Given the description of an element on the screen output the (x, y) to click on. 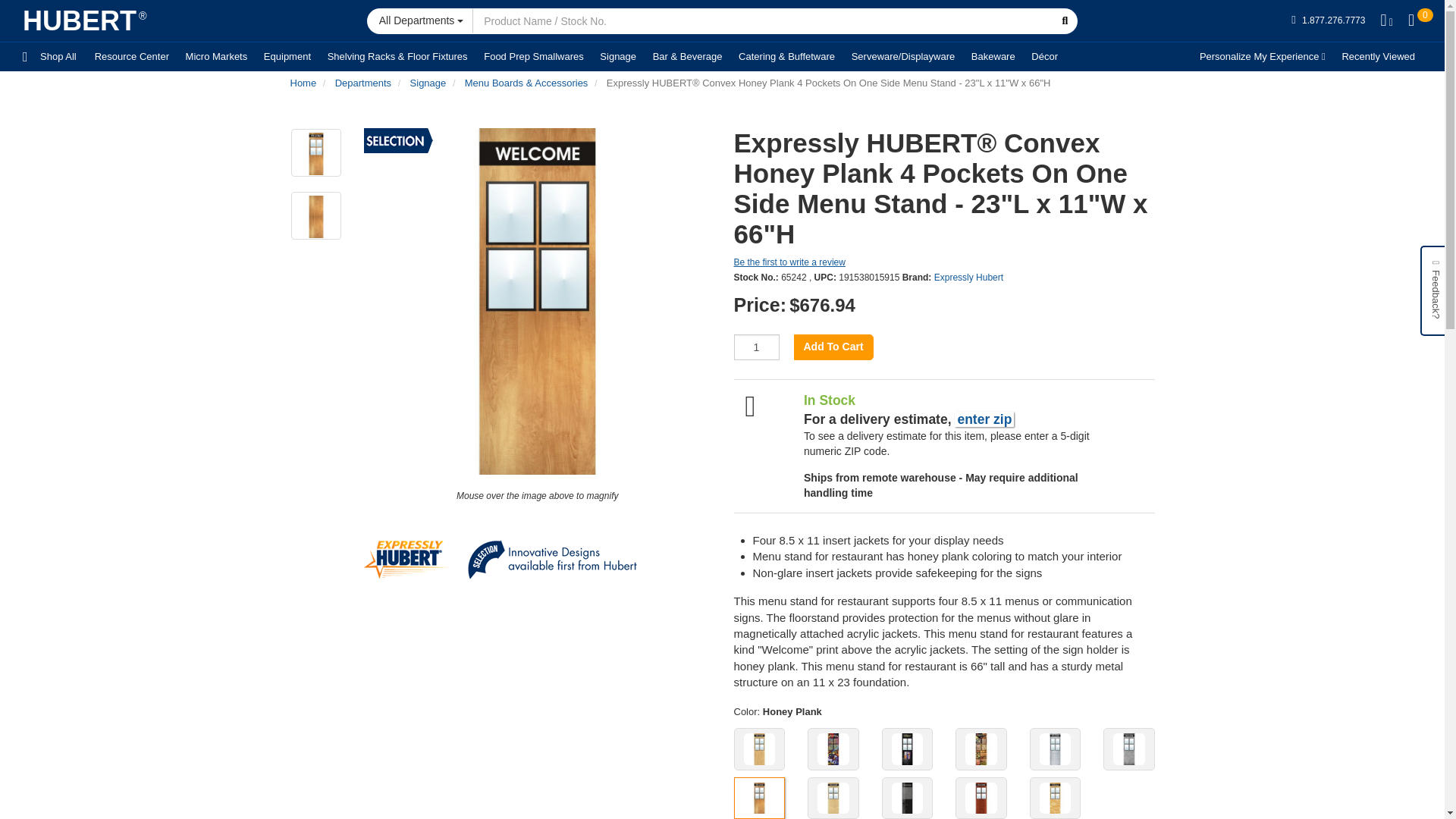
Chalk Chef (832, 748)
Bamboo (758, 748)
Cubist Chef (907, 748)
Food Medley (981, 748)
Wooden Utensils (1054, 798)
Silverware (907, 798)
Maple (832, 798)
Add To Cart (832, 347)
Weathered Mahogany (981, 798)
Galvanized (1054, 748)
1 (755, 347)
Honey Plank (758, 798)
Grey Stone (1128, 748)
All Departments (419, 20)
